Given the description of an element on the screen output the (x, y) to click on. 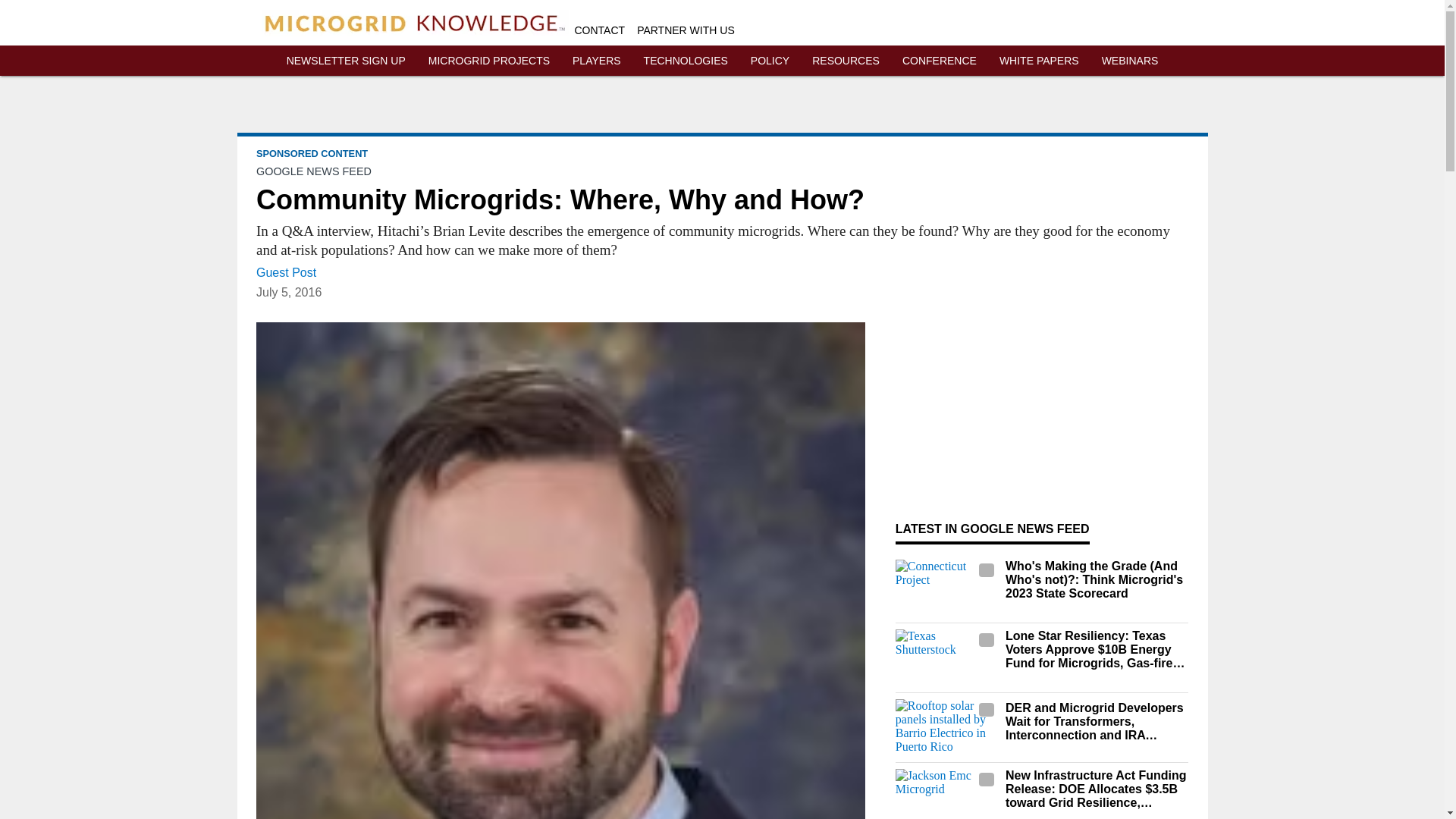
LATEST IN GOOGLE NEWS FEED (992, 528)
CONTACT (600, 30)
TECHNOLOGIES (685, 60)
WEBINARS (1130, 60)
POLICY (770, 60)
MICROGRID PROJECTS (489, 60)
RESOURCES (845, 60)
Texas Shutterstock (946, 657)
Jackson Emc Microgrid (946, 794)
PLAYERS (596, 60)
NEWSLETTER SIGN UP (346, 60)
Connecticut Project (946, 587)
Guest Post (285, 272)
WHITE PAPERS (1038, 60)
